Given the description of an element on the screen output the (x, y) to click on. 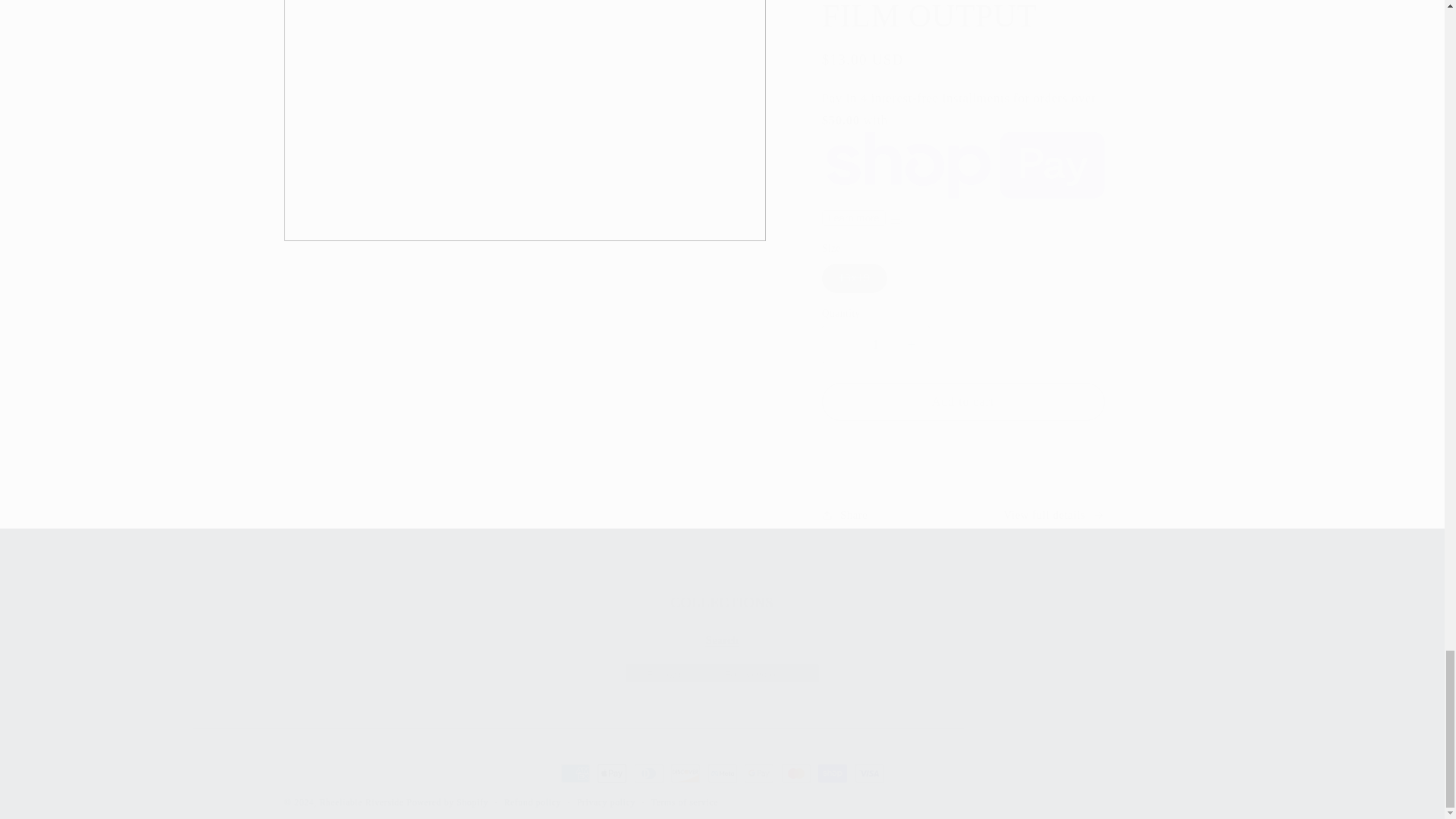
All collections (721, 602)
Open media 1 in modal (524, 122)
